Given the description of an element on the screen output the (x, y) to click on. 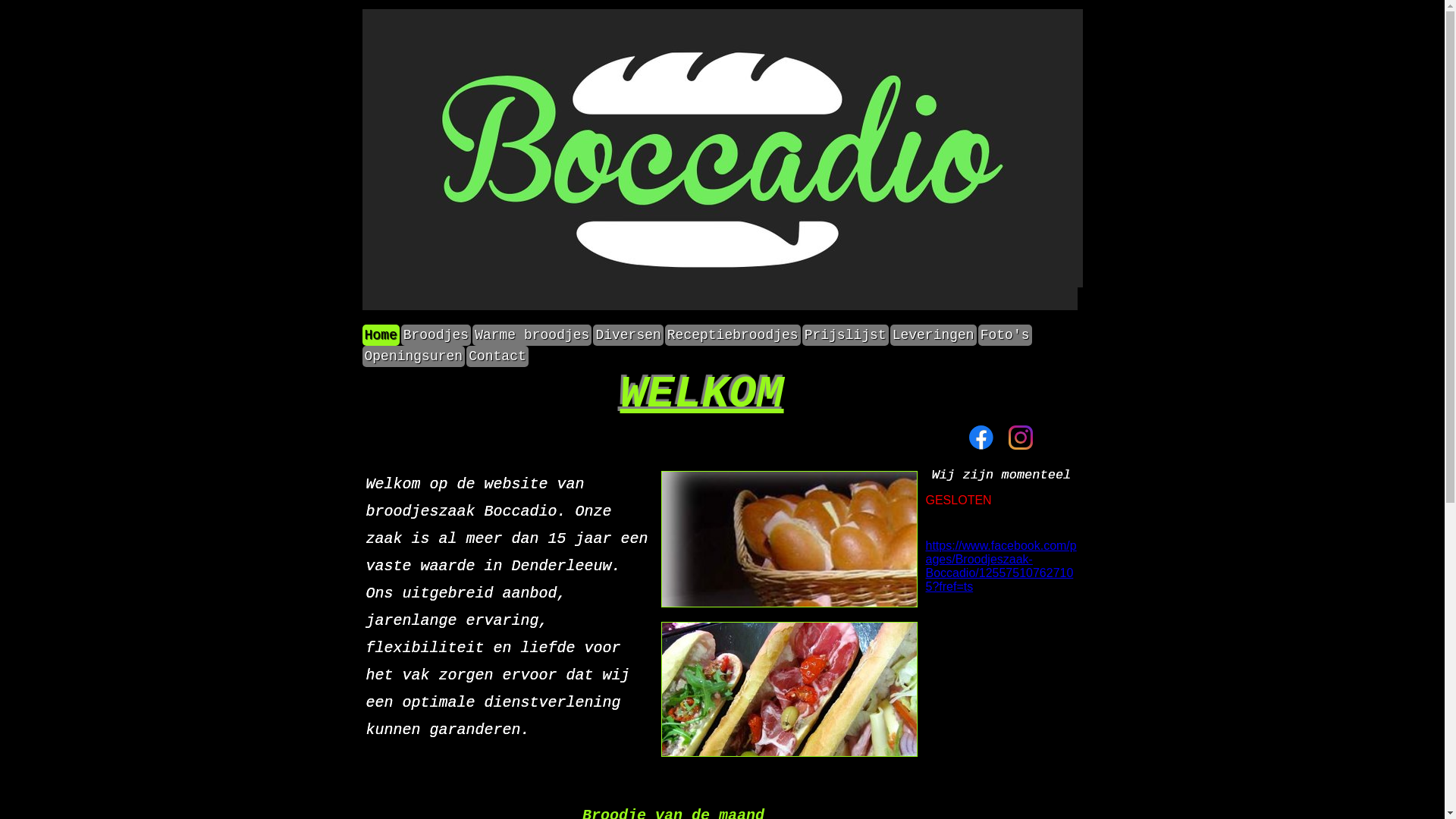
Receptiebroodjes Element type: text (732, 334)
Openingsuren Element type: text (413, 356)
Leveringen Element type: text (933, 334)
Foto's Element type: text (1005, 334)
Warme broodjes Element type: text (531, 334)
Prijslijst Element type: text (845, 334)
Home Element type: text (380, 334)
Contact Element type: text (497, 356)
Diversen Element type: text (627, 334)
Broodjes Element type: text (435, 334)
